Given the description of an element on the screen output the (x, y) to click on. 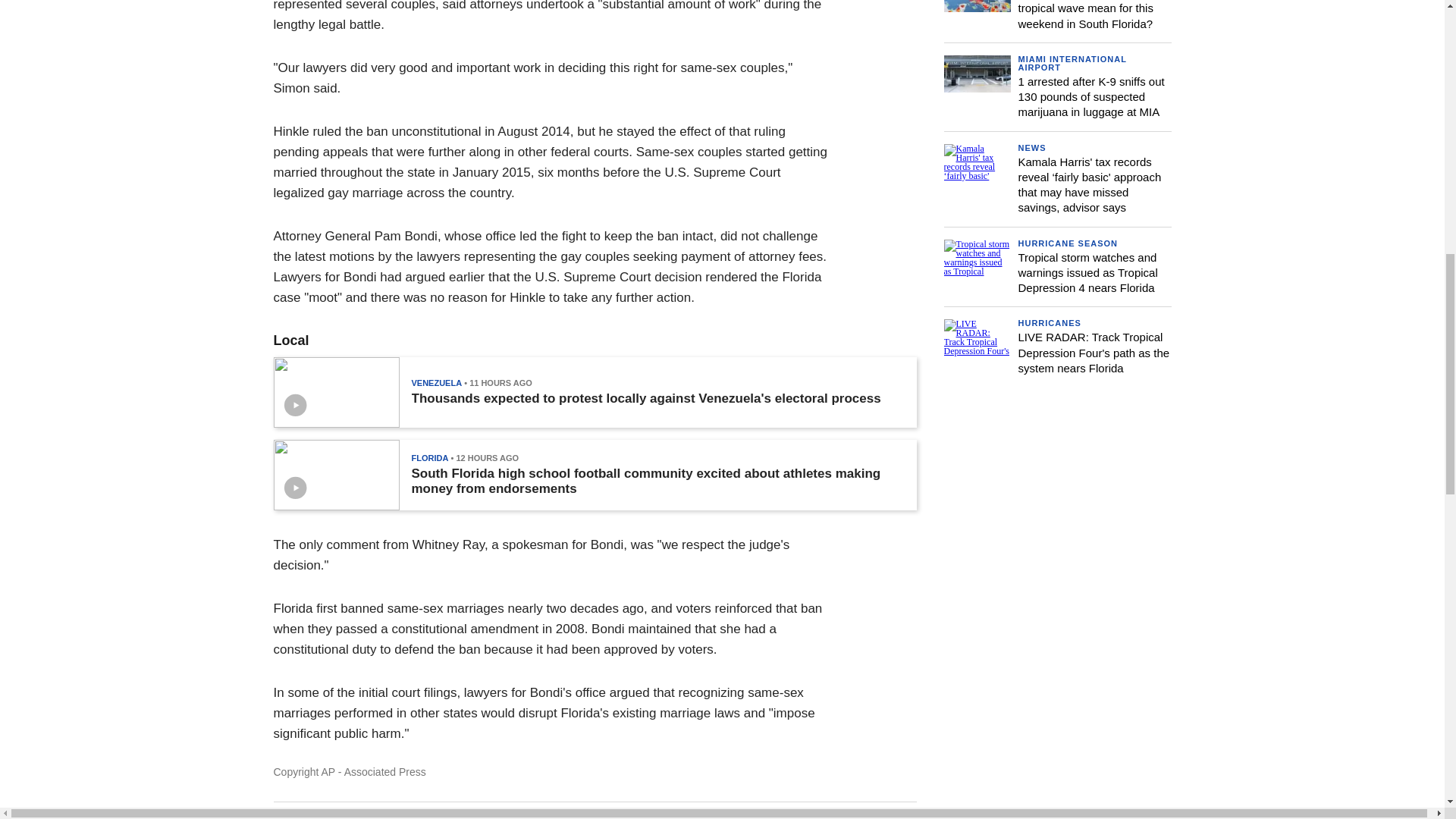
VENEZUELA (435, 382)
FLORIDA (429, 457)
